Given the description of an element on the screen output the (x, y) to click on. 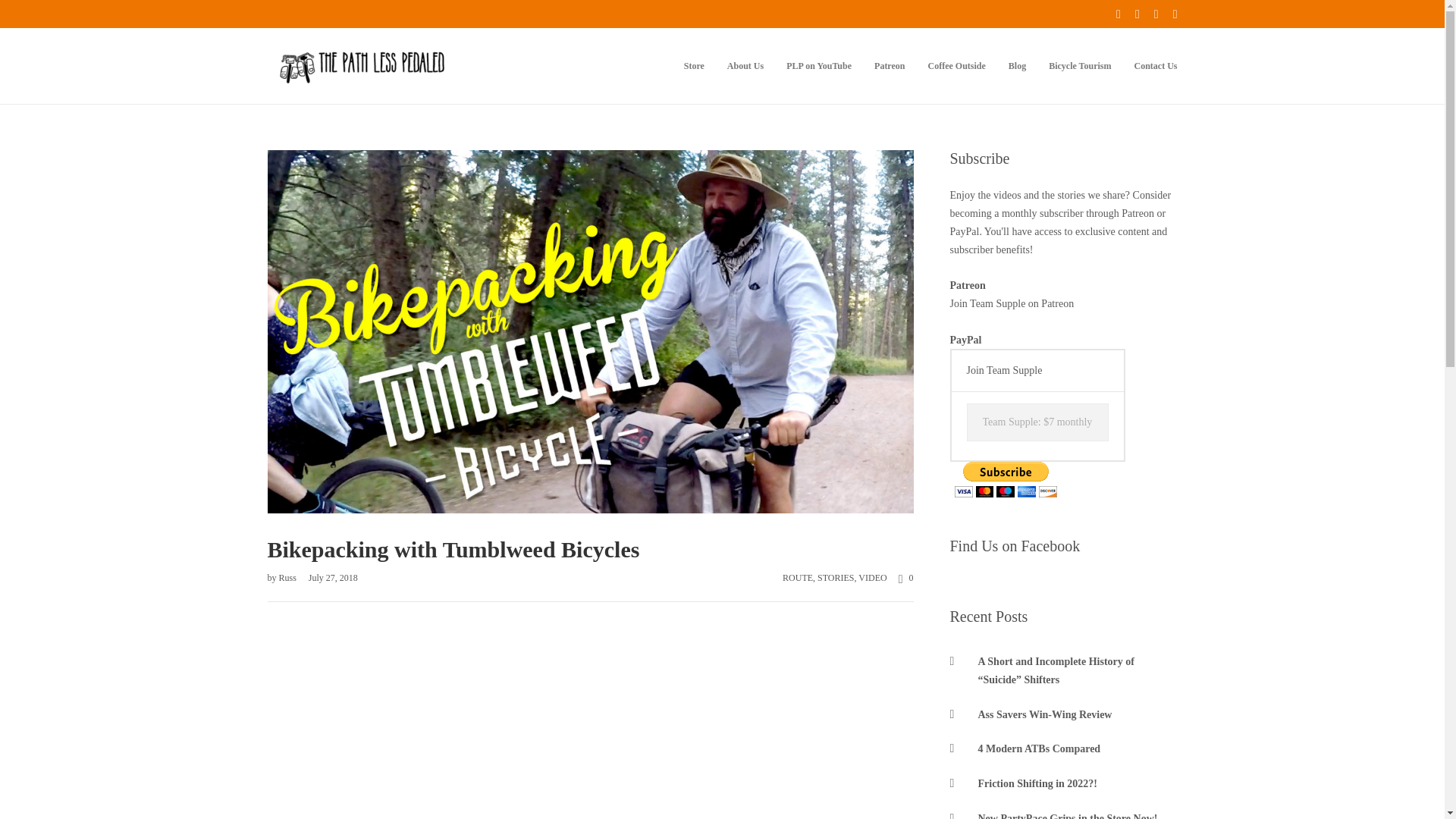
0 (900, 577)
VIDEO (872, 577)
ROUTE (797, 577)
4 Modern ATBs Compared (1062, 749)
July 27, 2018 (328, 577)
Ass Savers Win-Wing Review (1062, 714)
Russ (288, 577)
STORIES (834, 577)
Join Team Supple on Patreon (1011, 303)
Bikepacking with Tumblweed Bicycles (589, 543)
